Given the description of an element on the screen output the (x, y) to click on. 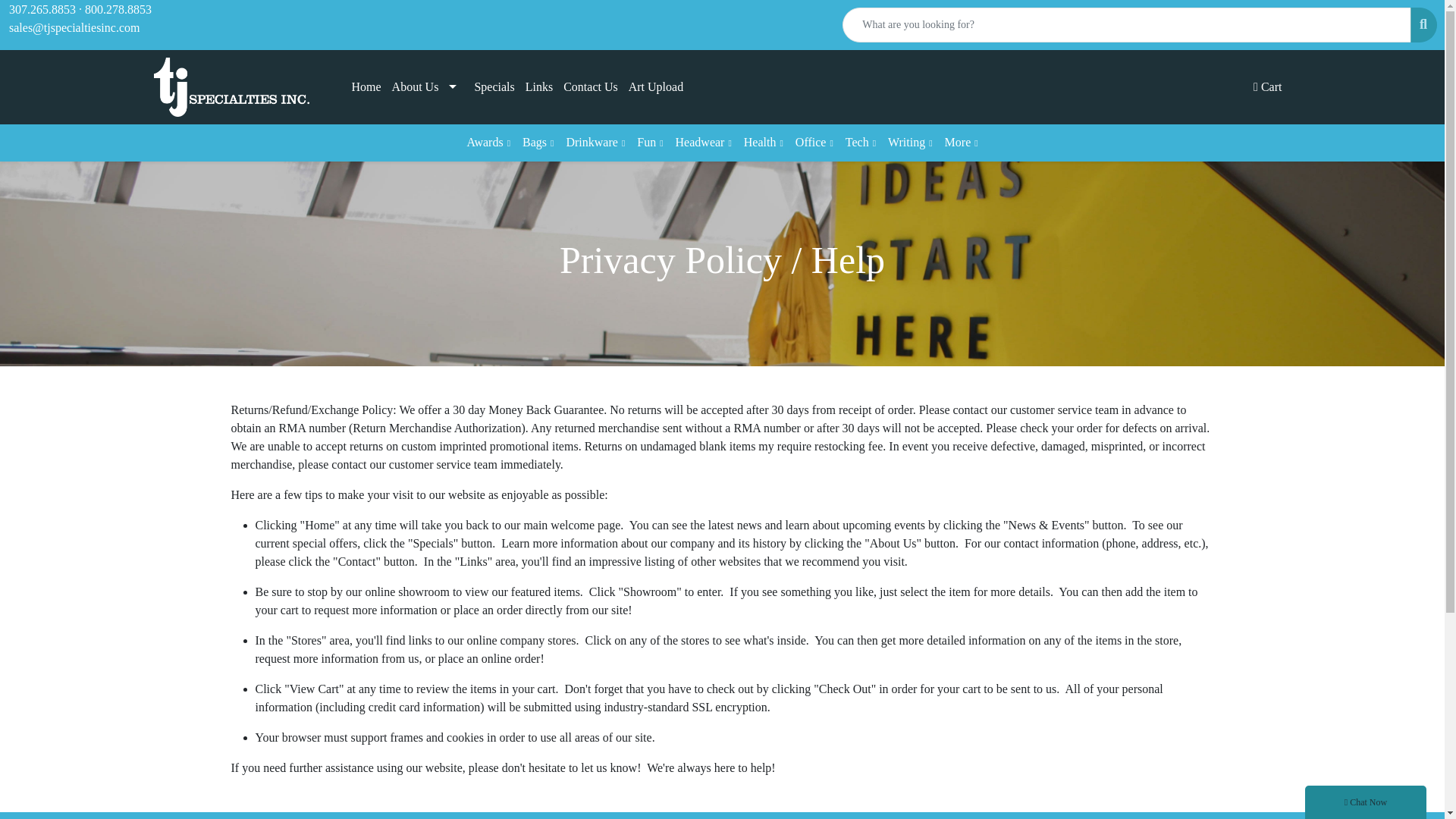
Awards (488, 142)
Home (365, 87)
Specials (493, 87)
Art Upload (655, 87)
Contact Us (590, 87)
307.265.8853 (41, 9)
Links (538, 87)
Chat Now (1365, 802)
About Us (427, 87)
Cart (1267, 87)
800.278.8853 (117, 9)
